Given the description of an element on the screen output the (x, y) to click on. 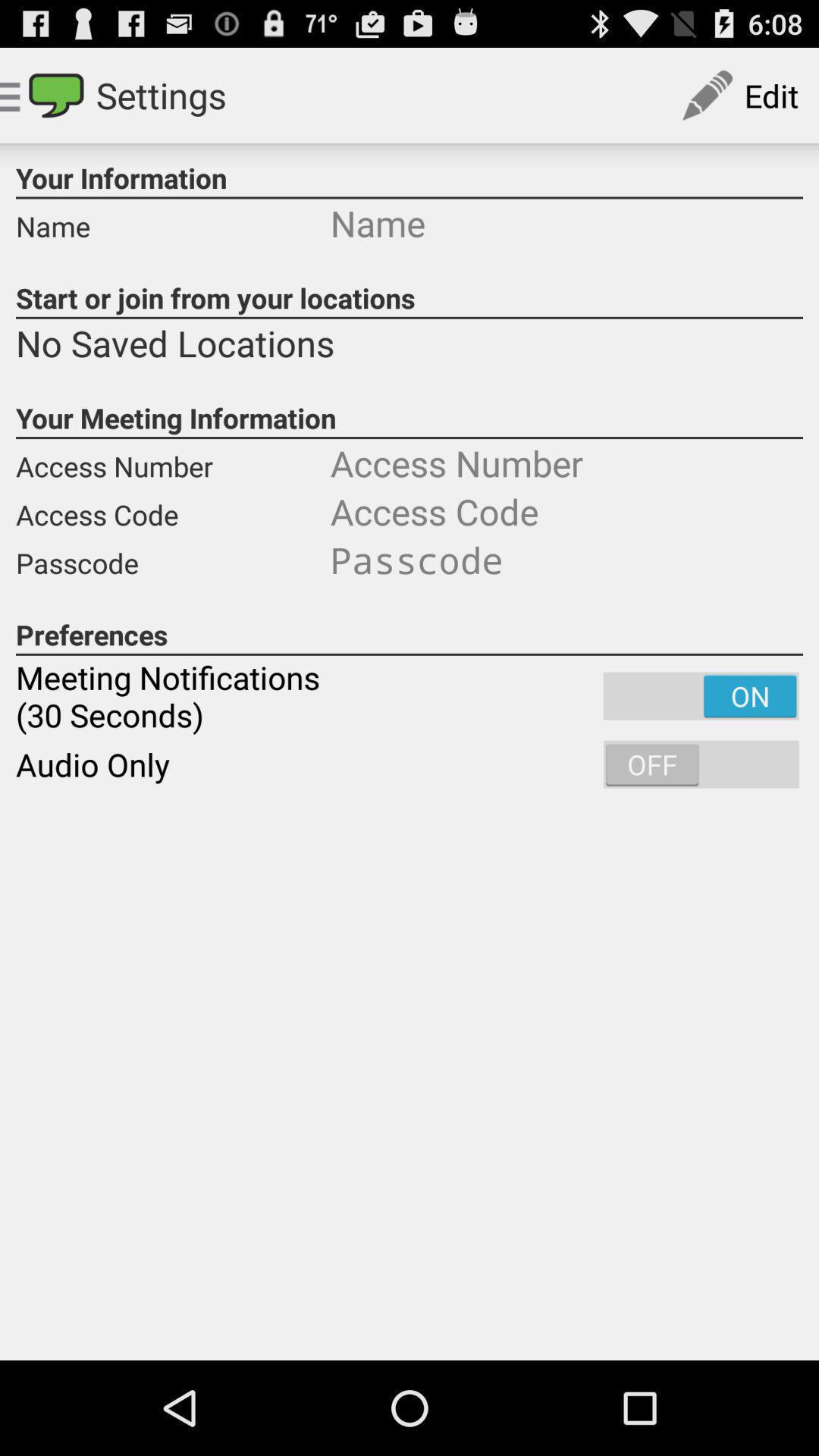
select the meeting notifications 30 (409, 695)
